Given the description of an element on the screen output the (x, y) to click on. 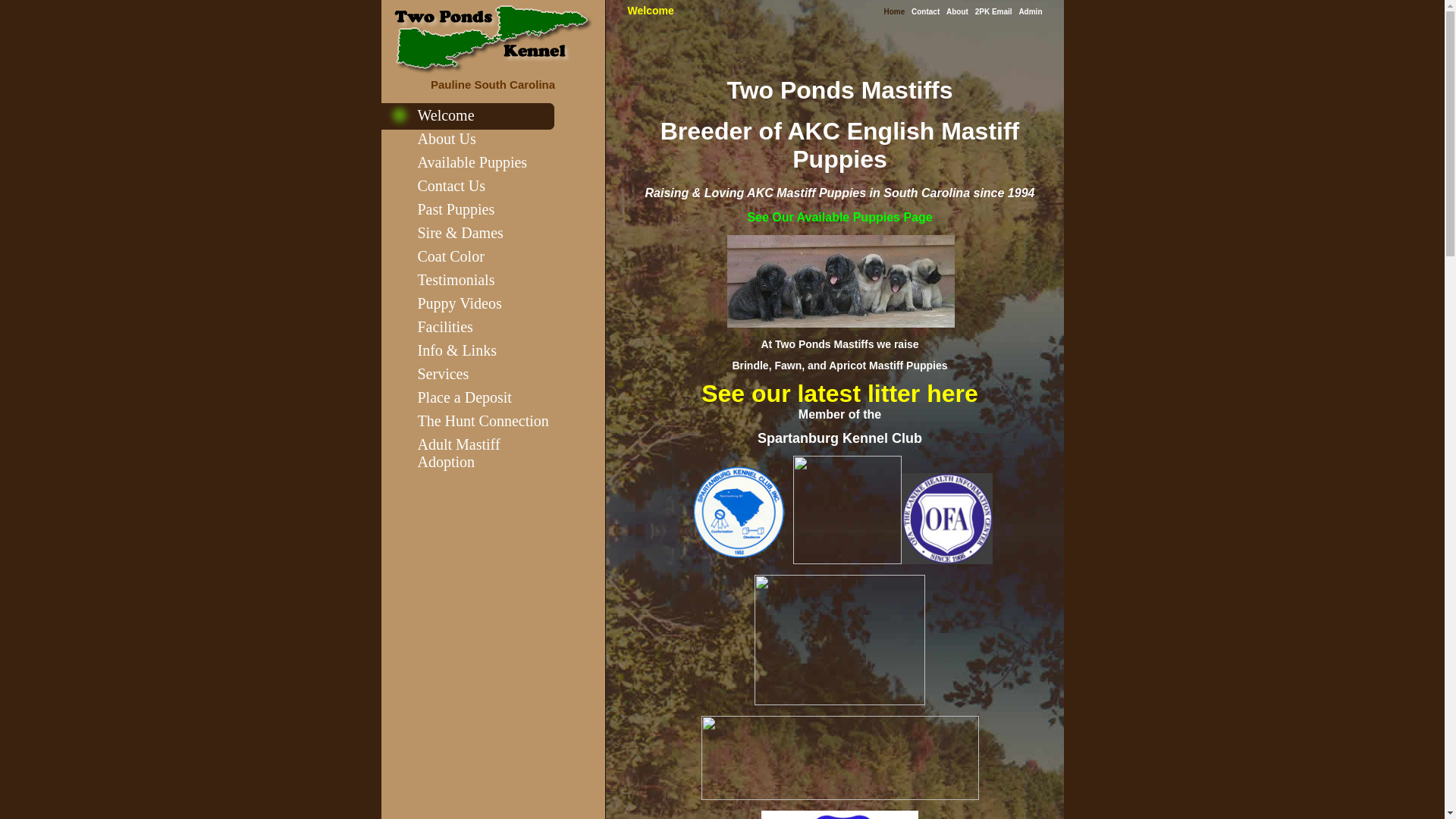
Admin Element type: text (1029, 11)
Home Element type: text (893, 11)
Adult Mastiff Adoption Element type: text (458, 453)
Past Puppies Element type: text (455, 208)
Place a Deposit Element type: text (464, 397)
Welcome Element type: text (650, 10)
Facilities Element type: text (444, 326)
Contact Element type: text (925, 11)
Welcome Element type: text (445, 114)
MB6 Element type: hover (847, 509)
Sire & Dames Element type: text (459, 232)
Puppy Videos Element type: text (459, 302)
See Our Available Puppies Page Element type: text (838, 216)
About Us Element type: text (446, 138)
2PK Email Element type: text (993, 11)
The Hunt Connection Element type: text (482, 420)
Testimonials Element type: text (455, 279)
About Element type: text (957, 11)
Coat Color Element type: text (450, 255)
See our latest litter here Element type: text (839, 398)
Services Element type: text (442, 373)
Available Puppies Element type: text (472, 161)
Contact Us Element type: text (450, 185)
Info & Links Element type: text (456, 350)
